Given the description of an element on the screen output the (x, y) to click on. 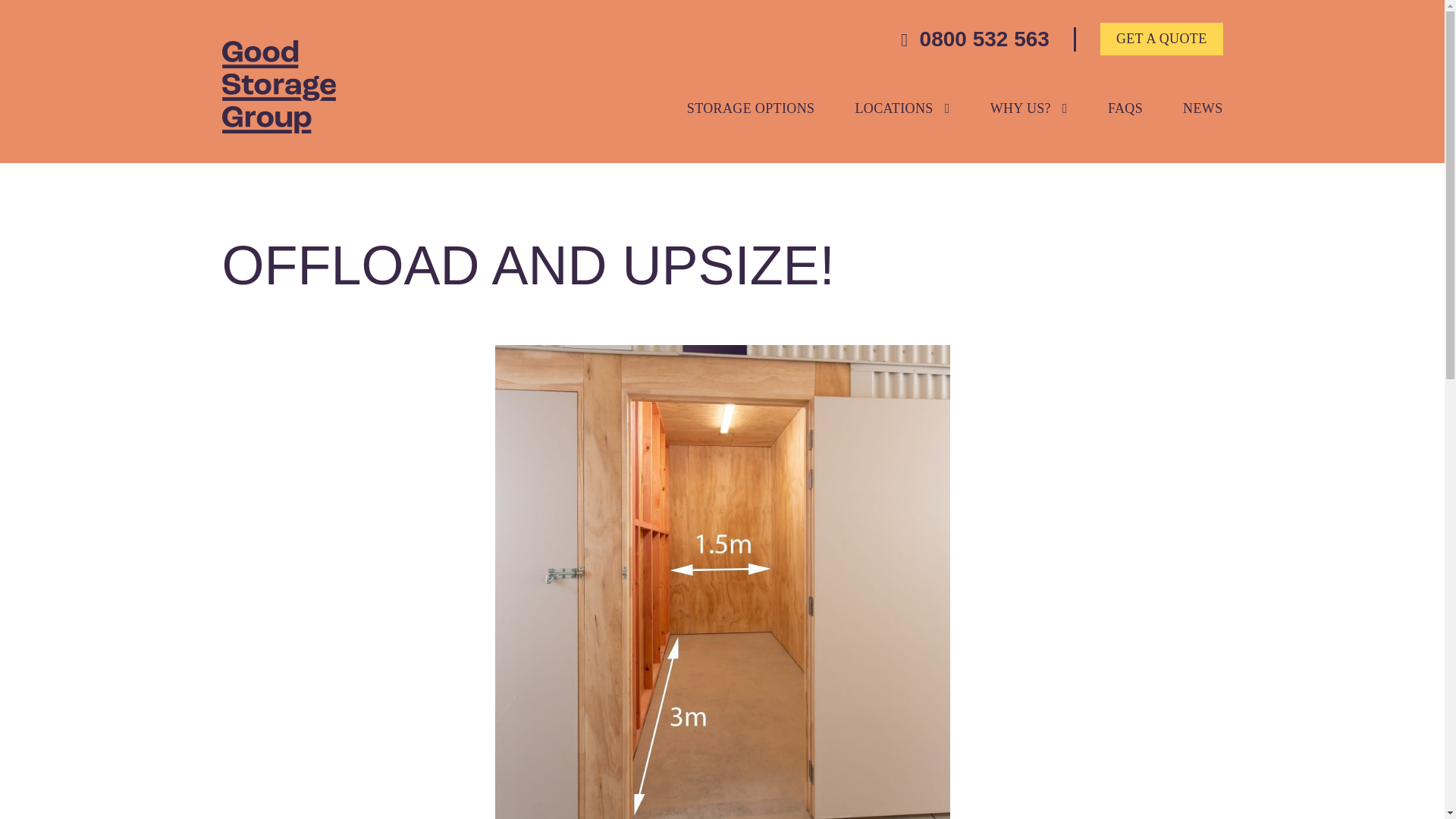
NEWS (1202, 111)
GET A QUOTE (1161, 38)
LOCATIONS (901, 111)
  0800 532 563 (975, 38)
STORAGE OPTIONS (751, 111)
WHY US? (1028, 111)
FAQS (1125, 111)
